Given the description of an element on the screen output the (x, y) to click on. 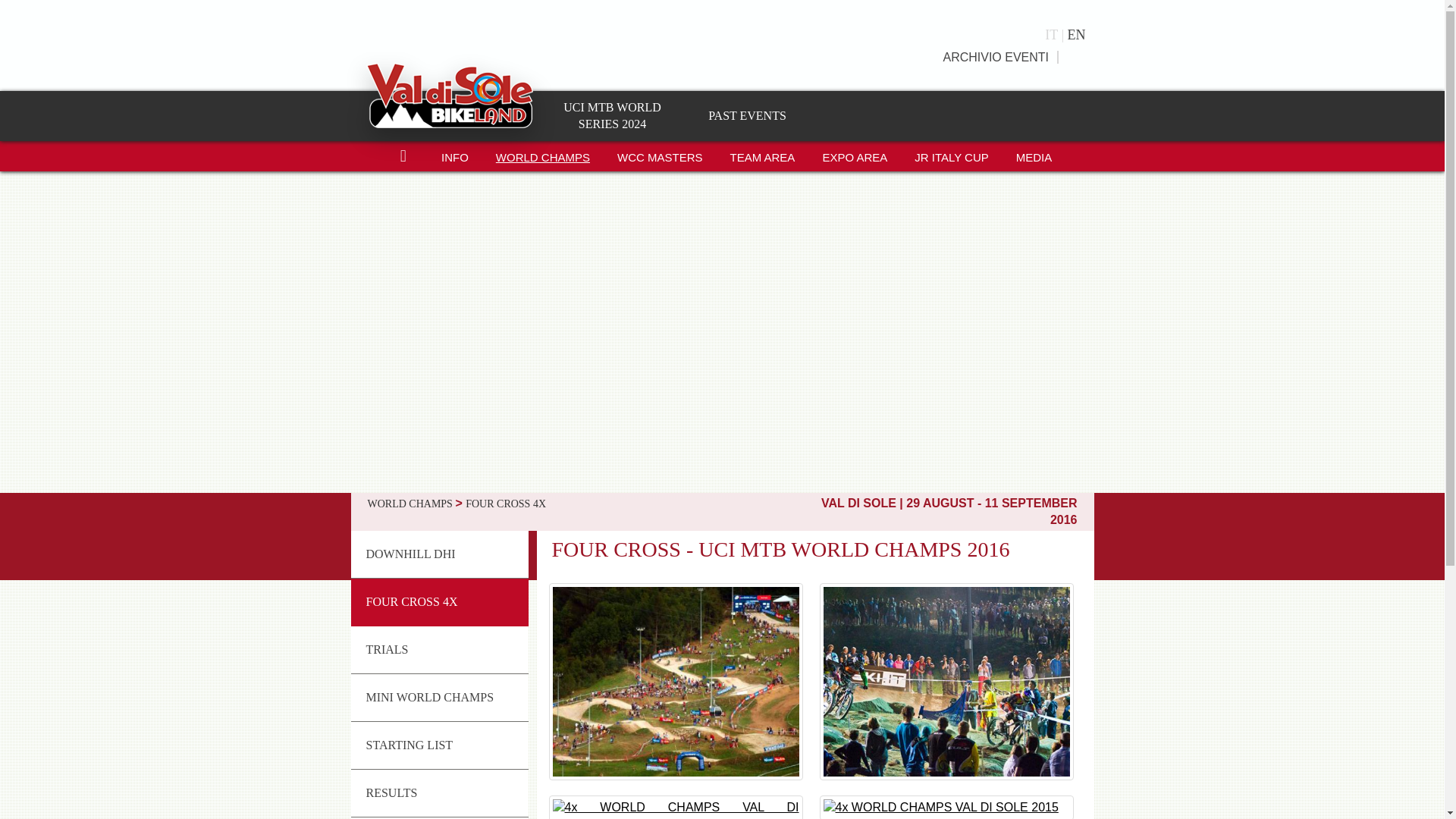
EN (1075, 34)
INFO (454, 155)
Archivio Eventi (996, 56)
INFO (454, 155)
WORLD CHAMPS (542, 155)
WCC MASTERS (660, 155)
ARCHIVIO EVENTI (996, 56)
IT (1056, 34)
UCI MTB WORLD SERIES 2024 (611, 115)
TEAM AREA (762, 155)
